Given the description of an element on the screen output the (x, y) to click on. 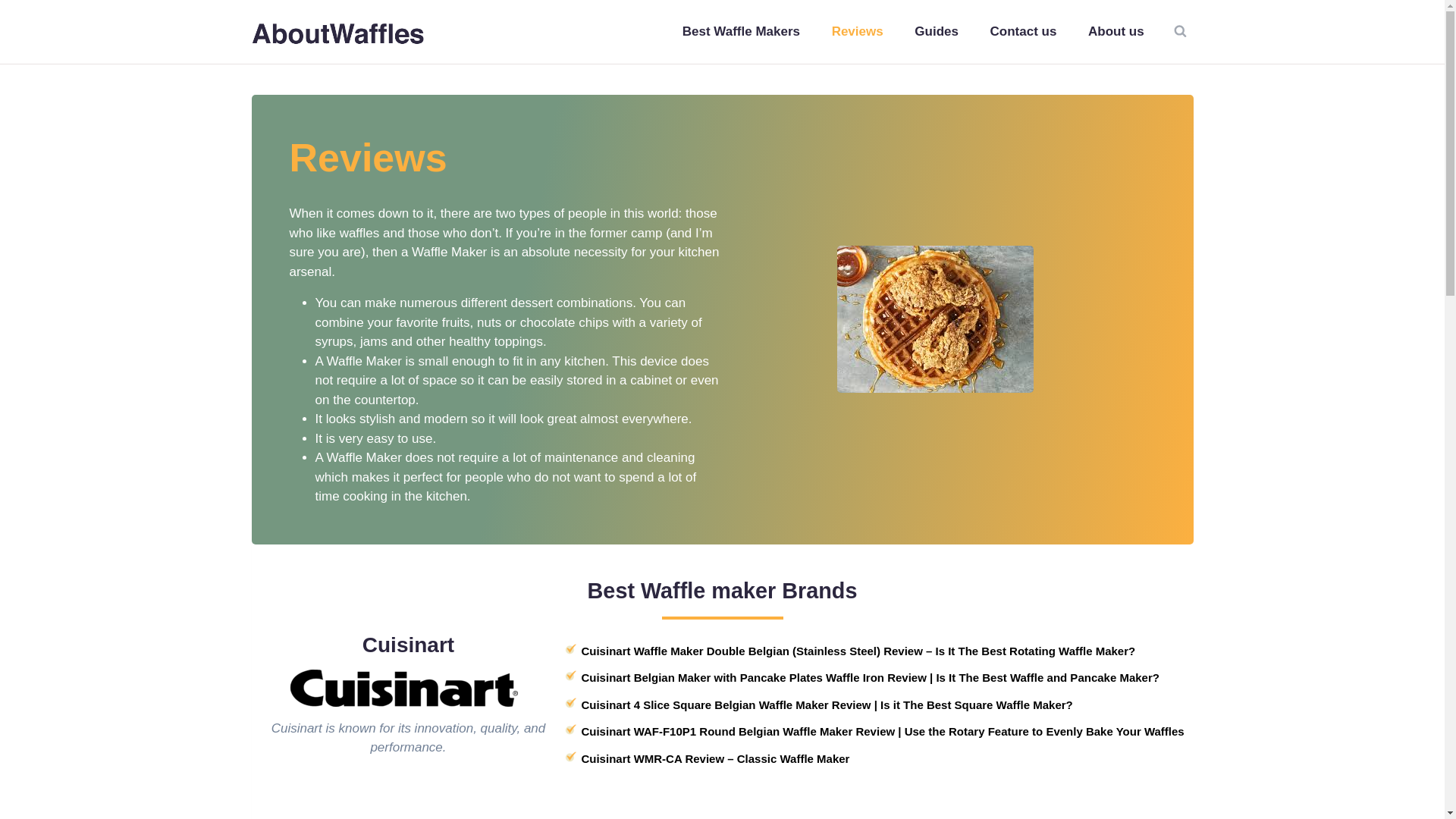
About us (1114, 31)
Best Waffle Makers (740, 31)
Contact us (1022, 31)
Guides (936, 31)
Reviews (857, 31)
